Given the description of an element on the screen output the (x, y) to click on. 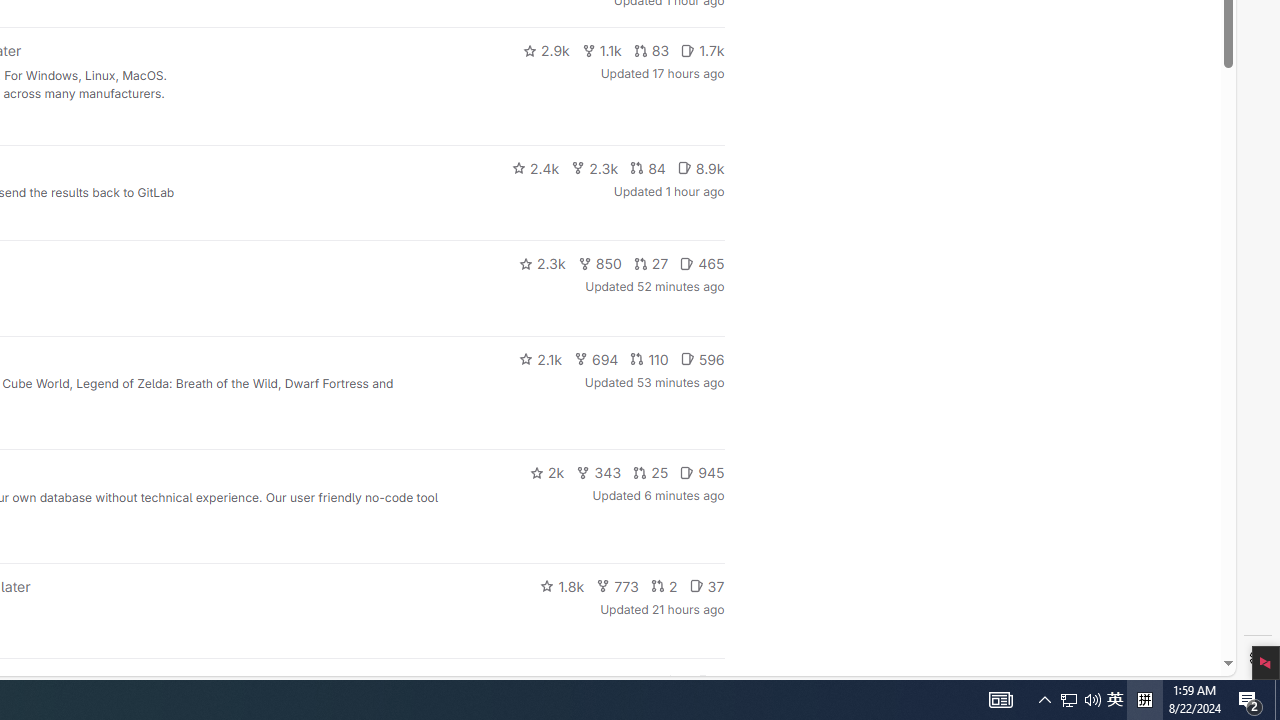
694 (596, 358)
84 (647, 167)
2.1k (539, 358)
110 (649, 358)
1 (673, 681)
2 (664, 585)
1.4k (573, 681)
Class: s14 gl-mr-2 (704, 681)
27 (651, 263)
37 (706, 585)
2.4k (535, 167)
